Given the description of an element on the screen output the (x, y) to click on. 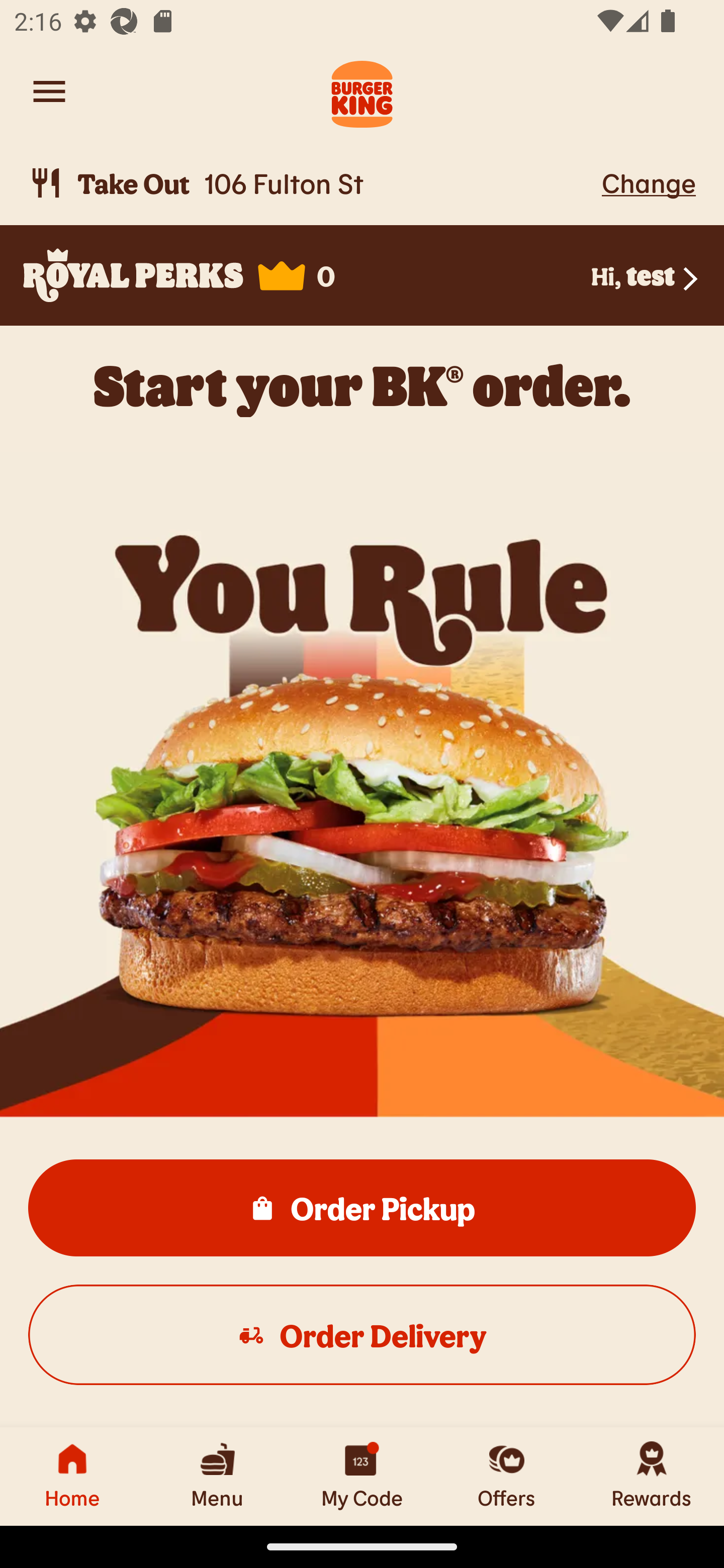
Burger King Logo. Navigate to Home (362, 91)
Navigate to account menu  (49, 91)
Take Out, 106 Fulton St  Take Out 106 Fulton St (311, 183)
Change (648, 182)
Start your BK® order. (361, 385)
, Order Pickup  Order Pickup (361, 1206)
, Order Delivery  Order Delivery (361, 1334)
Home (72, 1475)
Menu (216, 1475)
My Code (361, 1475)
Offers (506, 1475)
Rewards (651, 1475)
